Given the description of an element on the screen output the (x, y) to click on. 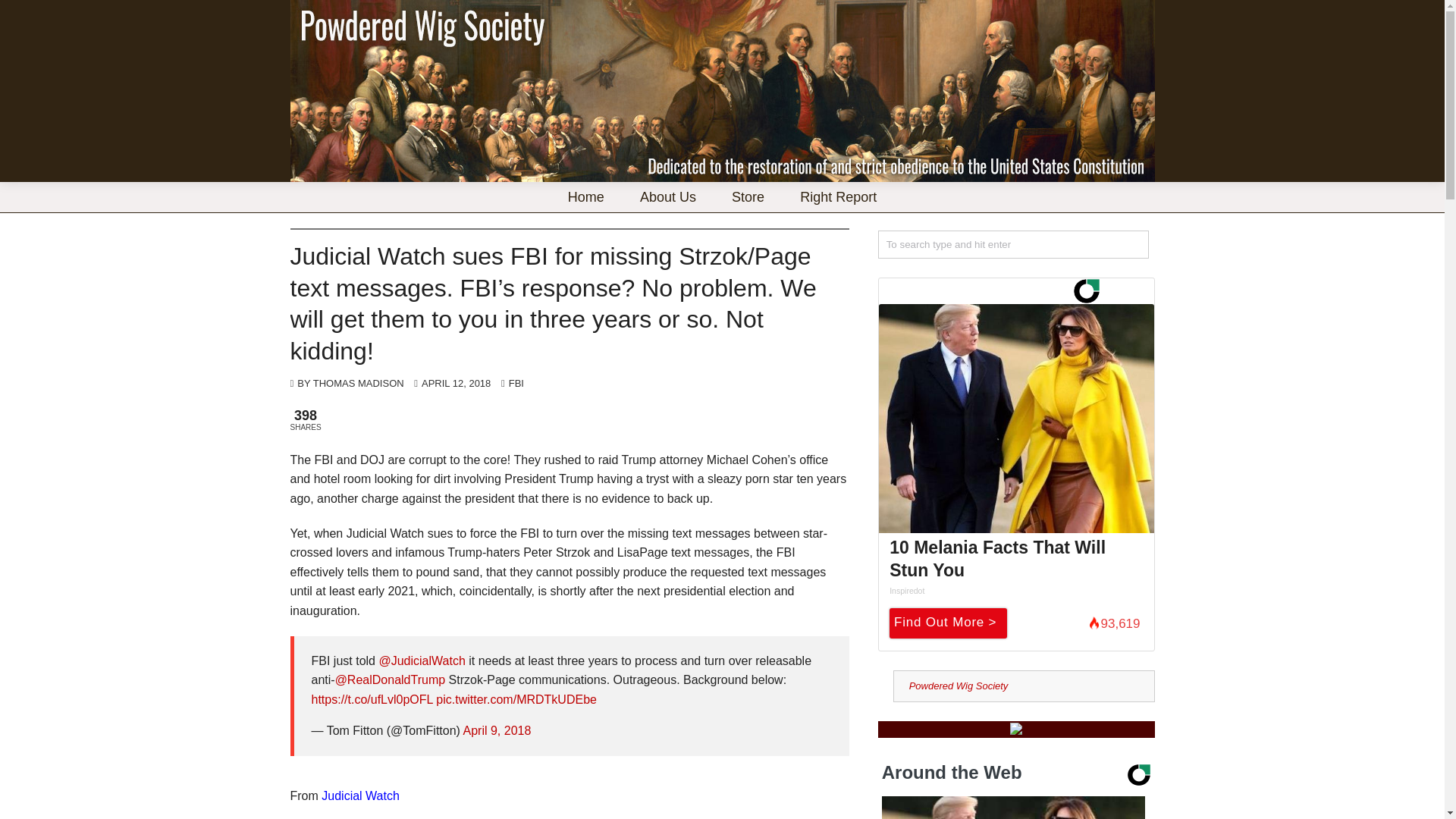
Flip (497, 420)
Share (362, 420)
Judicial Watch (359, 795)
Share on Flip (497, 420)
FBI (516, 383)
Right Report (837, 196)
April 9, 2018 (497, 730)
About Us (668, 196)
Share on More Button (543, 420)
Posts by Thomas Madison (358, 383)
To search type and hit enter (1013, 244)
Home (585, 196)
THOMAS MADISON (358, 383)
Share on Tweet (431, 420)
Tweet (431, 420)
